Given the description of an element on the screen output the (x, y) to click on. 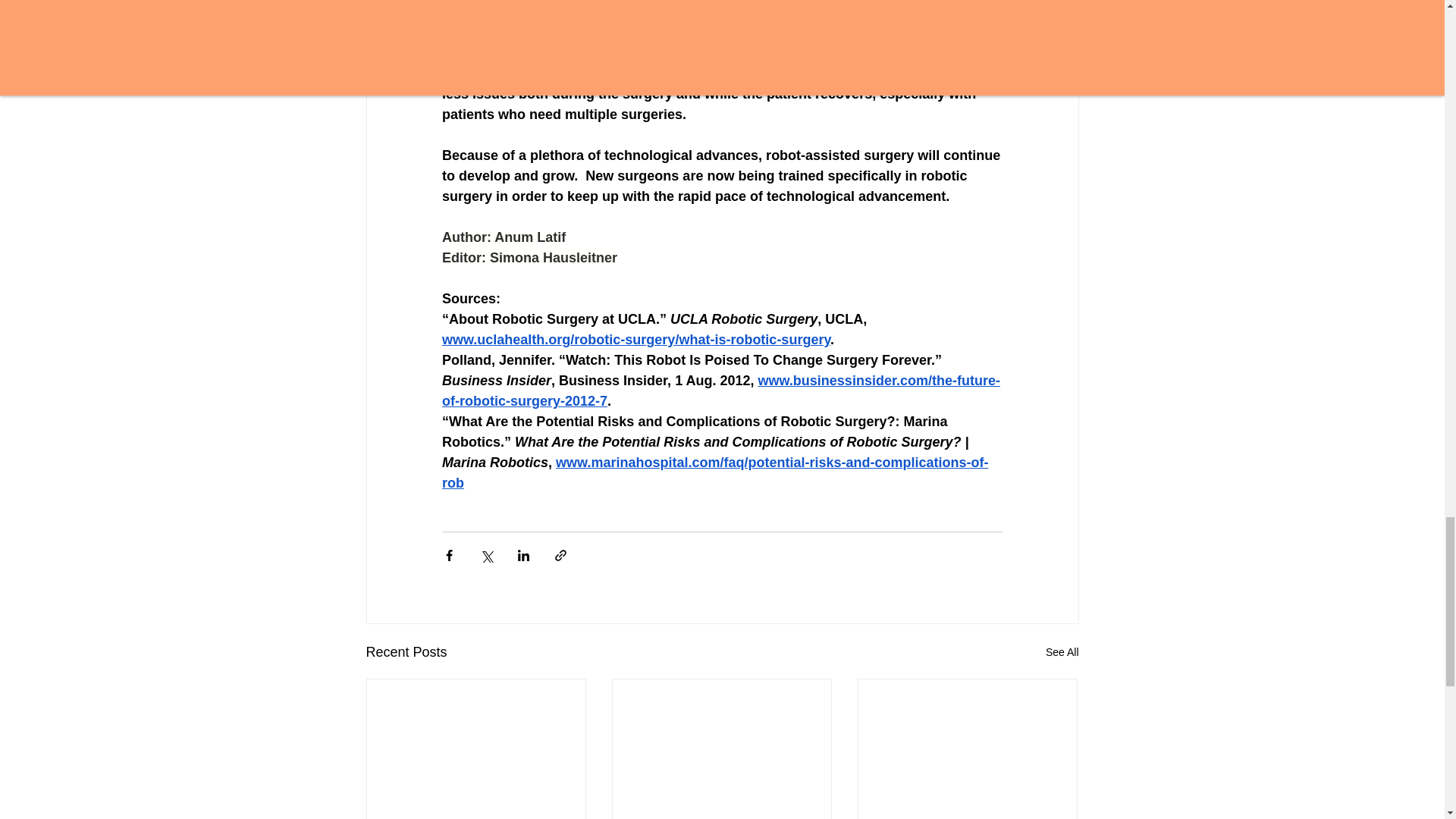
See All (1061, 652)
